Given the description of an element on the screen output the (x, y) to click on. 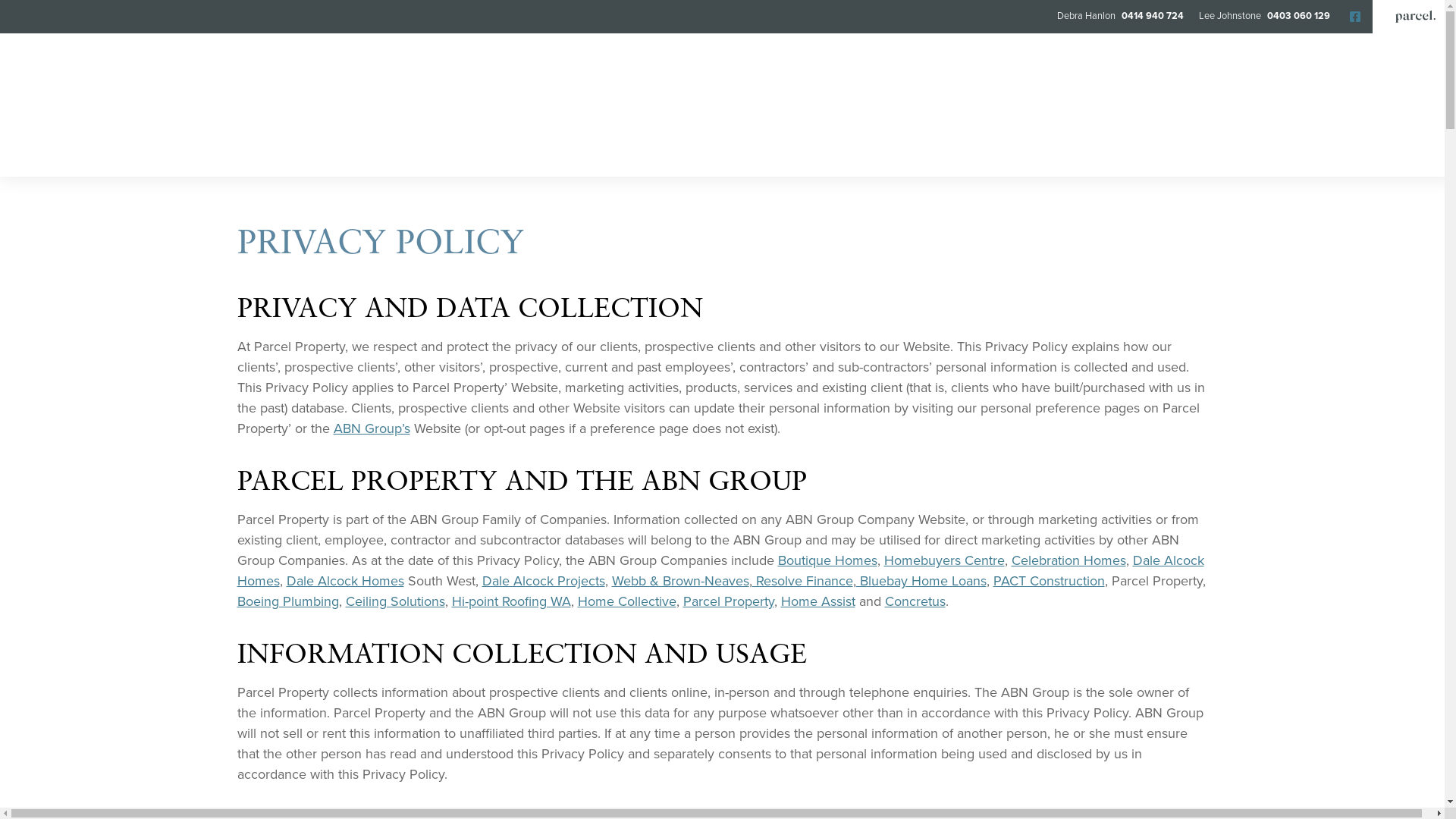
Ceiling Solutions Element type: text (395, 601)
Home Assist Element type: text (818, 601)
PACT Construction Element type: text (1048, 580)
Bluebay Home Loans Element type: text (920, 580)
BUILDER PORTAL Element type: text (885, 153)
Dale Alcock Projects Element type: text (543, 580)
Homebuyers Centre Element type: text (944, 560)
Home Collective Element type: text (626, 601)
Hi-point Roofing WA Element type: text (511, 601)
Boeing Plumbing Element type: text (287, 601)
Dale Alcock Homes Element type: text (719, 570)
Concretus Element type: text (914, 601)
0403 060 129 Element type: text (1296, 15)
0414 940 724 Element type: text (1150, 15)
HOME Element type: text (298, 153)
CONTACT Element type: text (1145, 153)
Webb & Brown-Neaves Element type: text (679, 580)
Celebration Homes Element type: text (1068, 560)
WHO IS PARCEL Element type: text (1027, 153)
PRICE LIST Element type: text (391, 153)
Resolve Finance Element type: text (802, 580)
LAND FOR SALE Element type: text (520, 153)
Boutique Homes Element type: text (827, 560)
Parcel Property Element type: text (727, 601)
Dale Alcock Homes Element type: text (345, 580)
Facebook Element type: text (1355, 16)
